Given the description of an element on the screen output the (x, y) to click on. 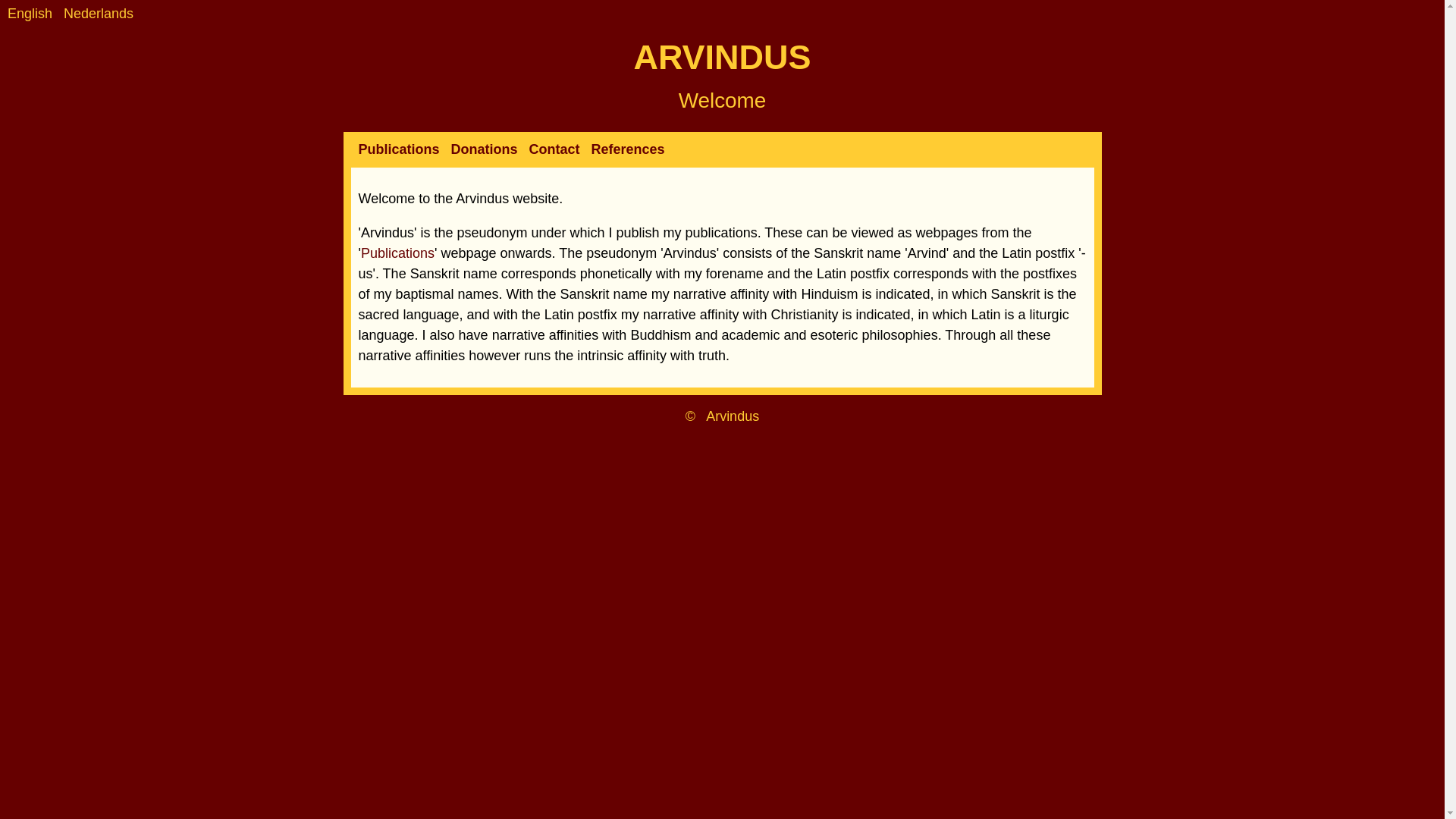
Arvindus (732, 416)
English (29, 13)
Publications (397, 253)
Donations (484, 149)
References (628, 149)
Publications (398, 149)
Nederlands (98, 13)
Contact (554, 149)
ARVINDUS (721, 56)
